Given the description of an element on the screen output the (x, y) to click on. 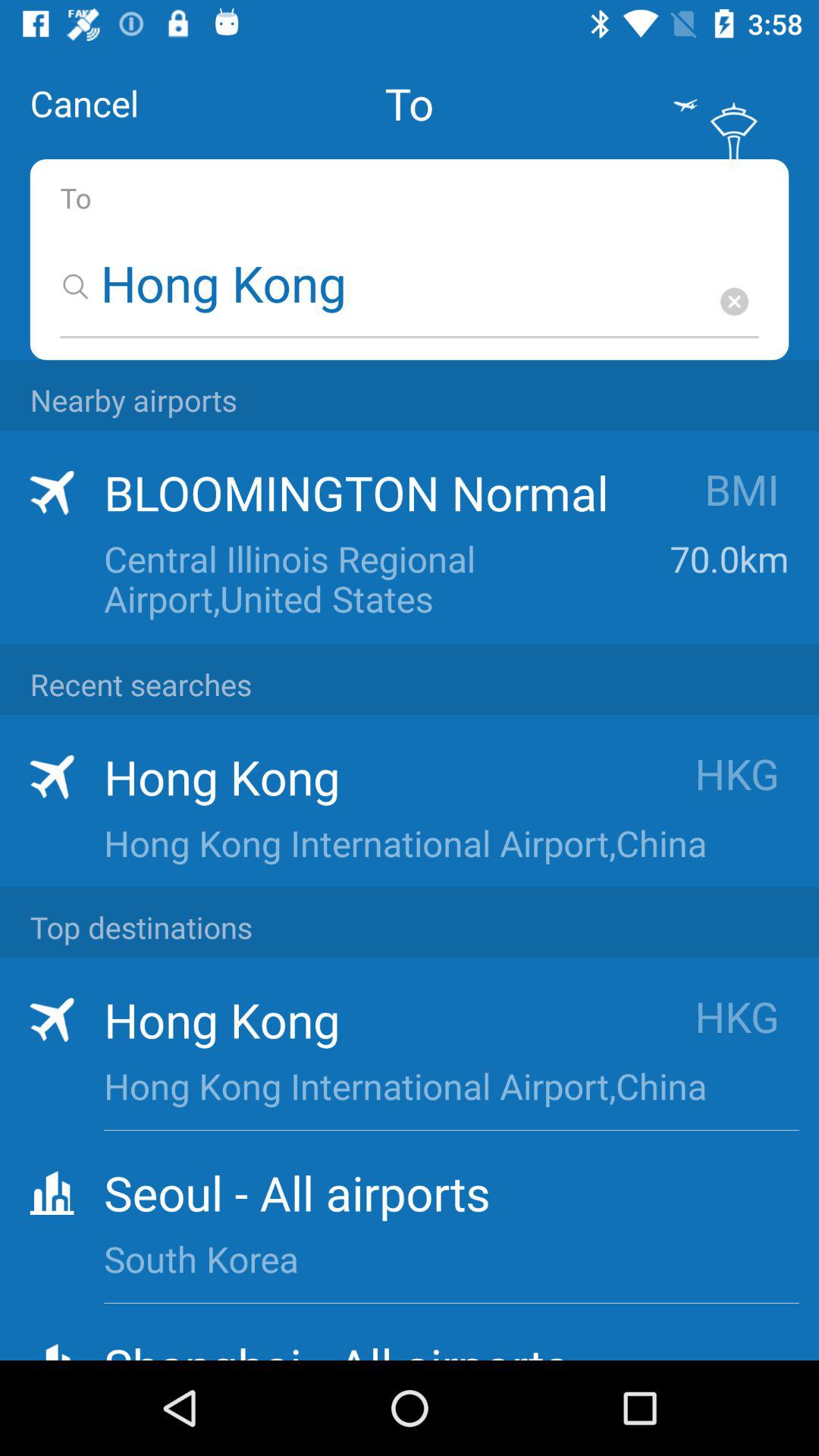
flip to cancel (84, 103)
